Given the description of an element on the screen output the (x, y) to click on. 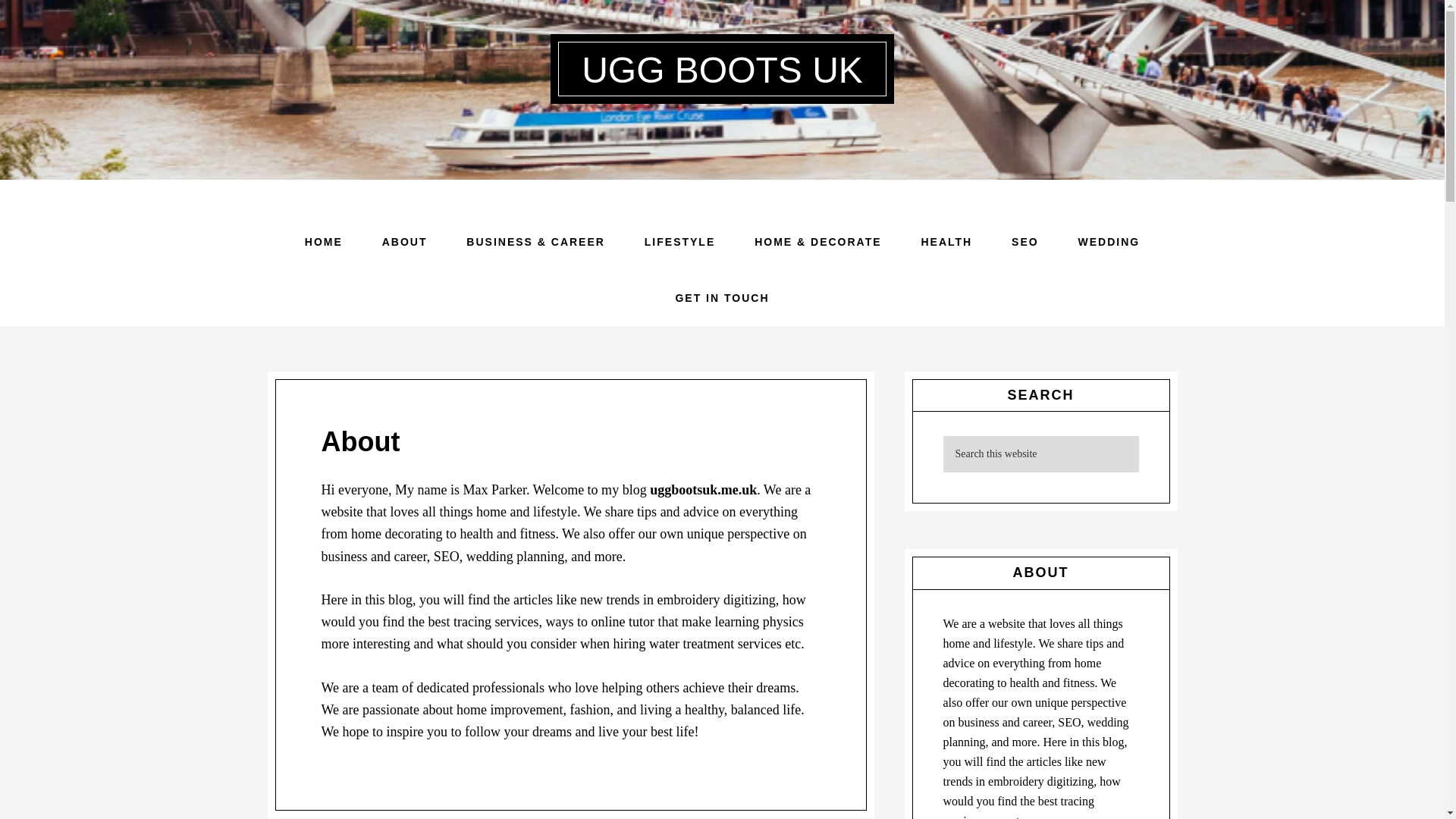
UGG BOOTS UK (721, 69)
SEO (1024, 241)
LIFESTYLE (679, 241)
HEALTH (946, 241)
GET IN TOUCH (721, 297)
ABOUT (404, 241)
WEDDING (1108, 241)
HOME (323, 241)
